Given the description of an element on the screen output the (x, y) to click on. 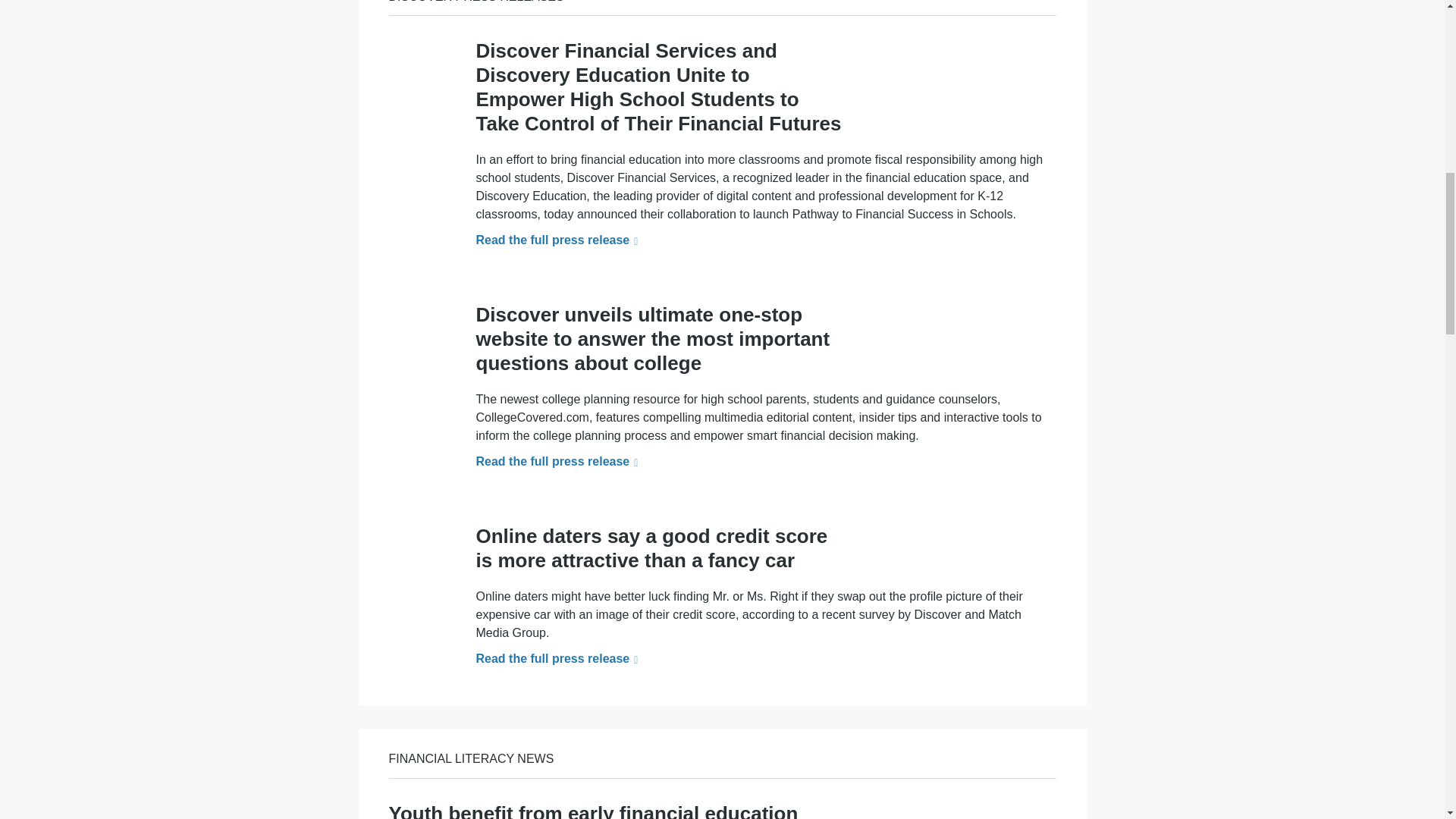
Read the full press release (557, 239)
Read the full press release (557, 461)
Read the full press release (557, 658)
